Given the description of an element on the screen output the (x, y) to click on. 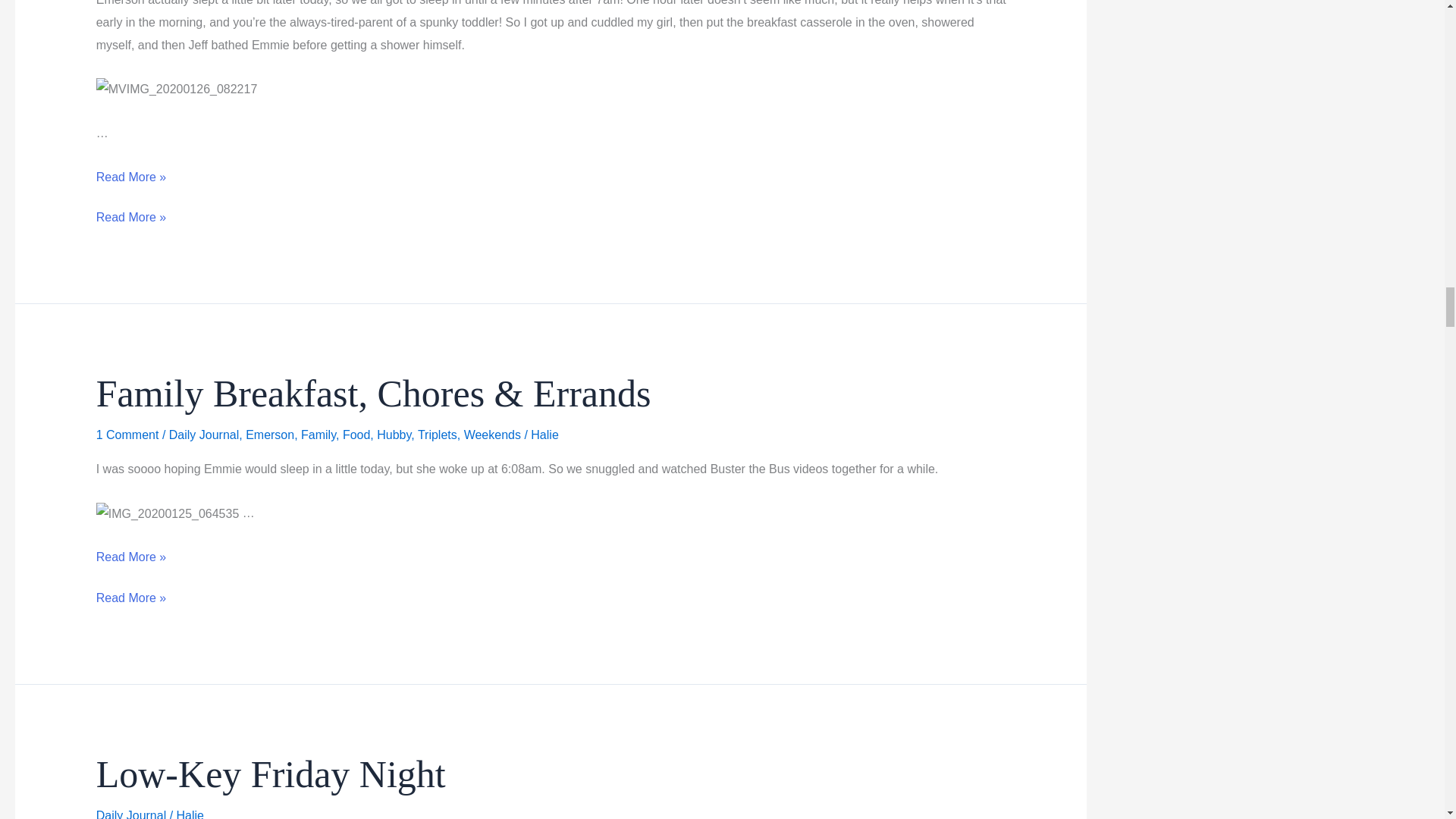
View all posts by Halie (189, 814)
View all posts by Halie (544, 434)
